Given the description of an element on the screen output the (x, y) to click on. 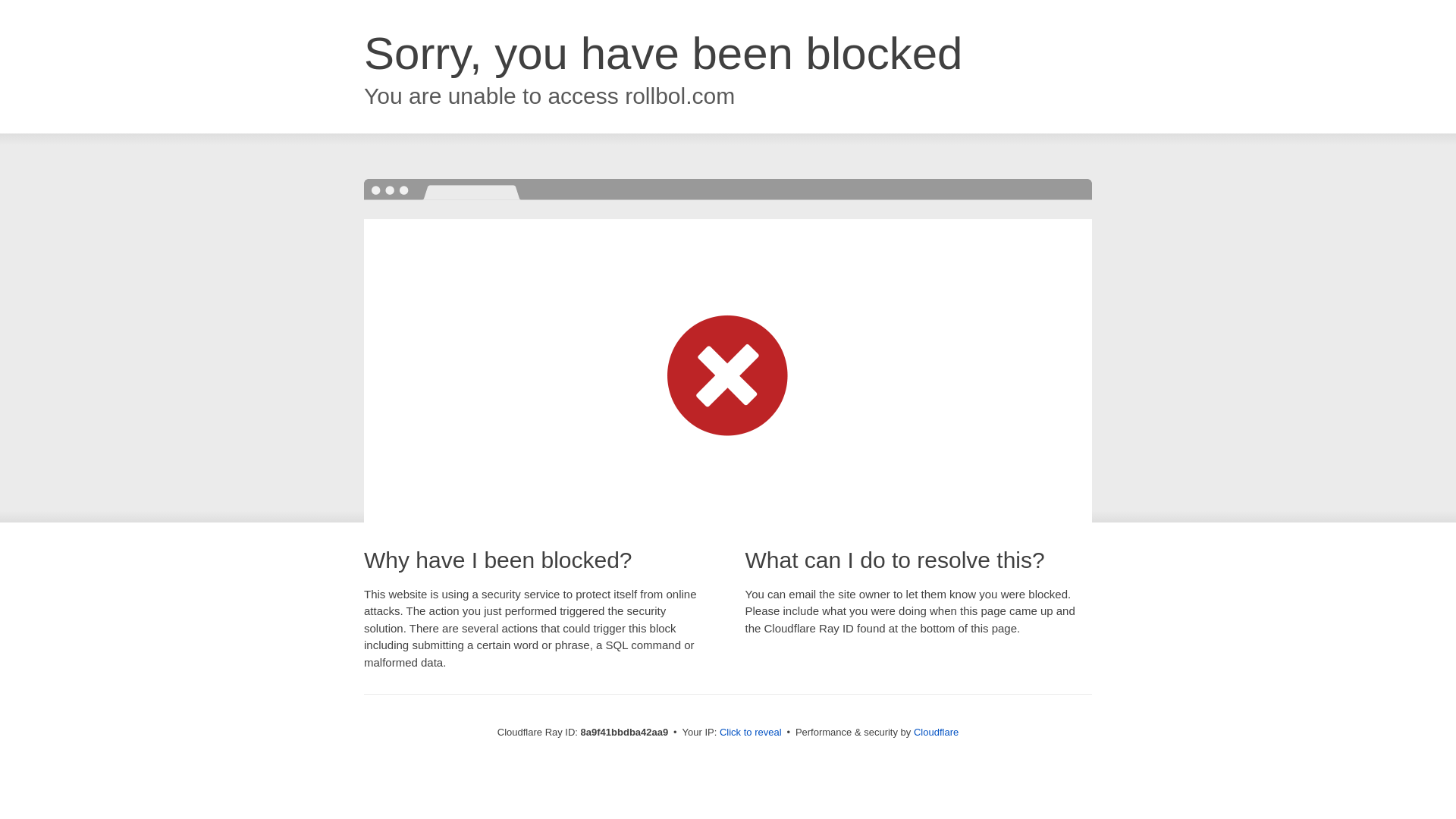
Cloudflare (936, 731)
Click to reveal (750, 732)
